Given the description of an element on the screen output the (x, y) to click on. 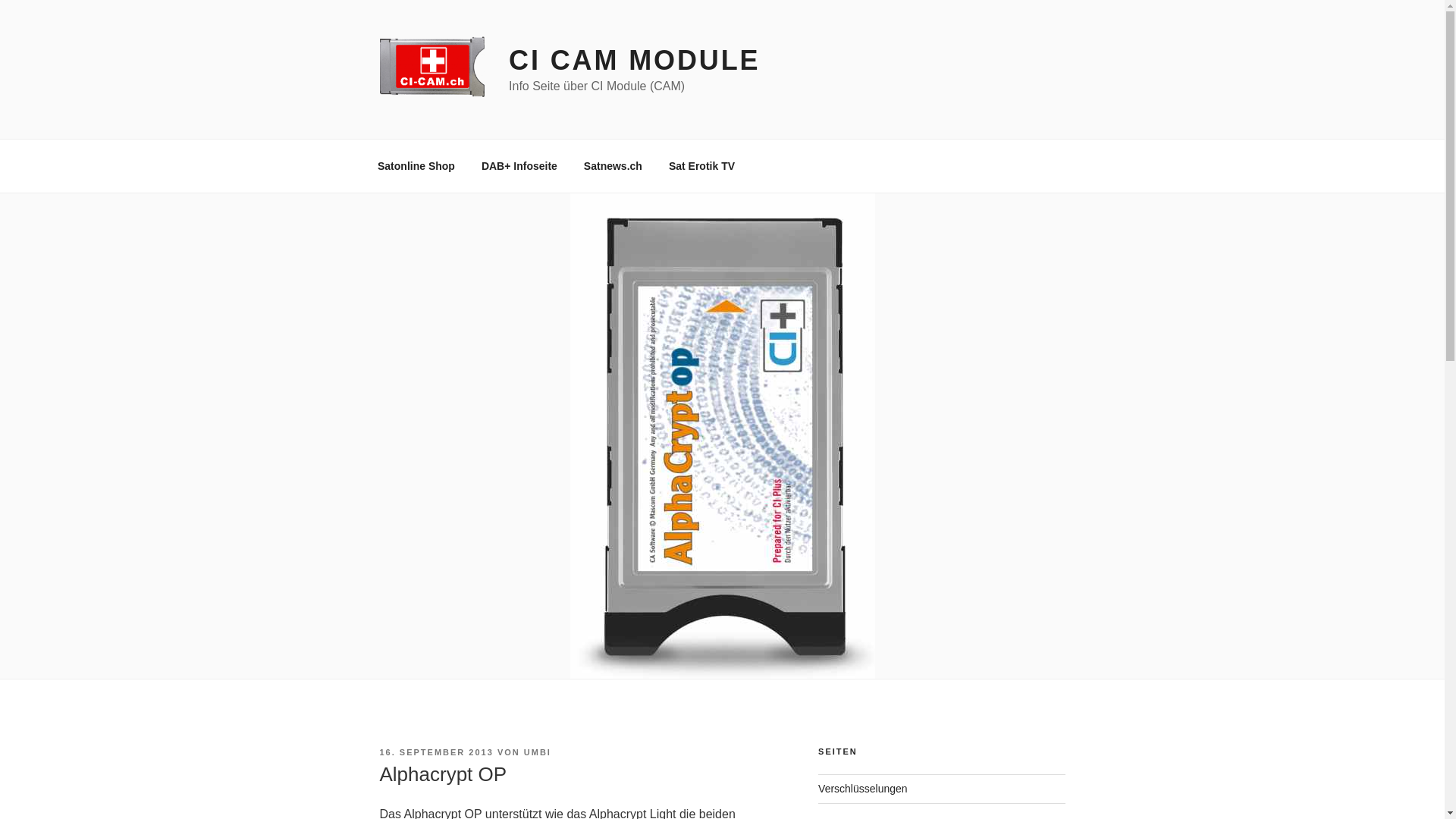
DAB+ Infoseite Element type: text (518, 165)
Satonline Shop Element type: text (415, 165)
Satnews.ch Element type: text (612, 165)
16. SEPTEMBER 2013 Element type: text (435, 751)
Sat Erotik TV Element type: text (701, 165)
UMBI Element type: text (537, 751)
CI CAM MODULE Element type: text (633, 59)
